Given the description of an element on the screen output the (x, y) to click on. 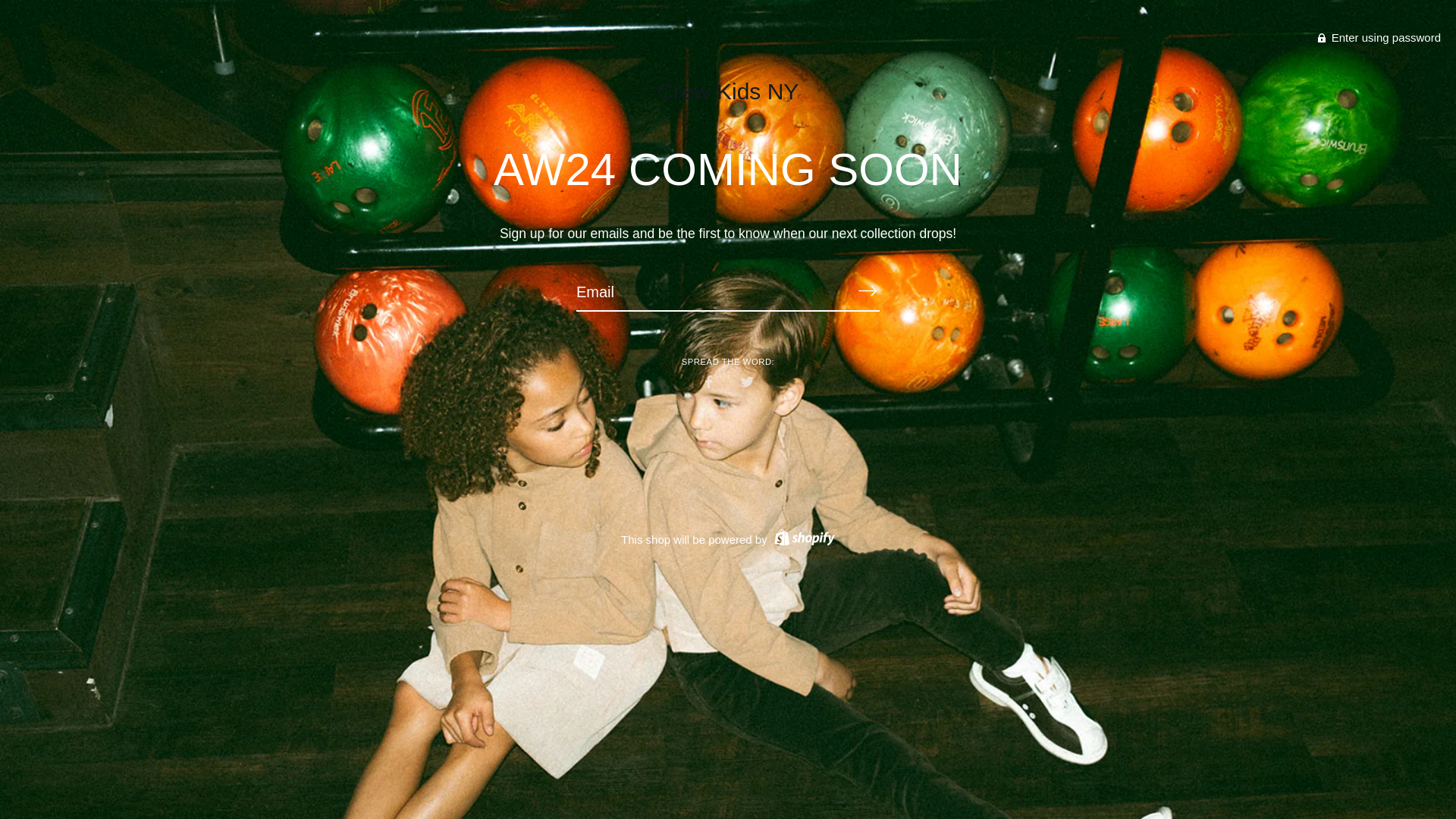
Shopify logo (804, 537)
Lock icon (1320, 37)
Lock icon Enter using password (1379, 37)
Share on Facebook (707, 380)
Share on Twitter (747, 380)
Create your own online store with Shopify (802, 539)
Shopify logo (802, 539)
Crew Kids NY (728, 91)
